Given the description of an element on the screen output the (x, y) to click on. 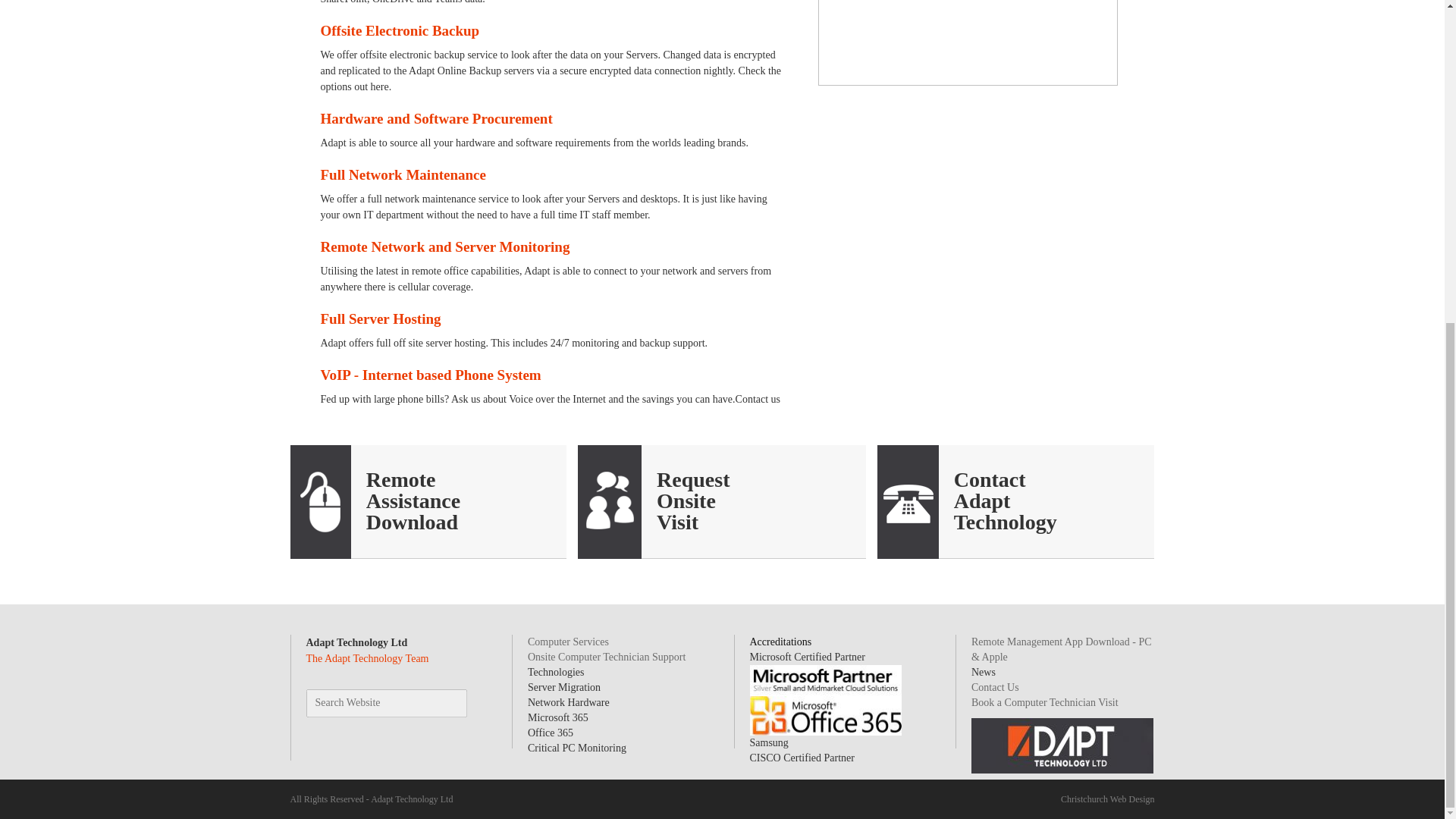
Onsite Visit (677, 521)
submit (446, 703)
Contact (989, 479)
Visit (677, 521)
System Services (413, 500)
Contact Us (981, 500)
Contact Us (989, 479)
Computer Services (567, 641)
System Services (412, 521)
The Adapt Technology Team (367, 658)
